Given the description of an element on the screen output the (x, y) to click on. 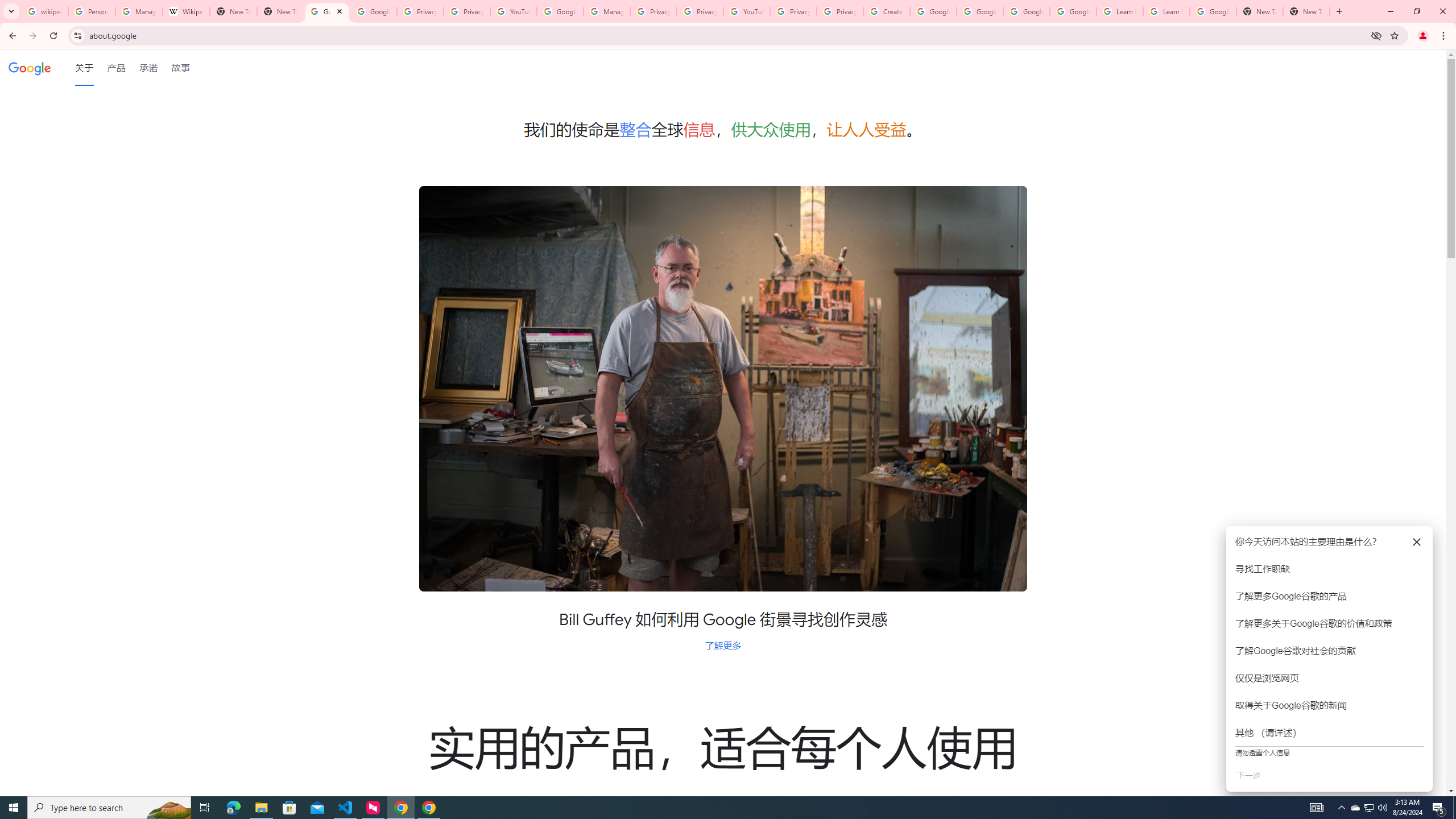
YouTube (745, 11)
Google (29, 67)
Personalization & Google Search results - Google Search Help (91, 11)
Google Account (1213, 11)
Google Account Help (1073, 11)
